Given the description of an element on the screen output the (x, y) to click on. 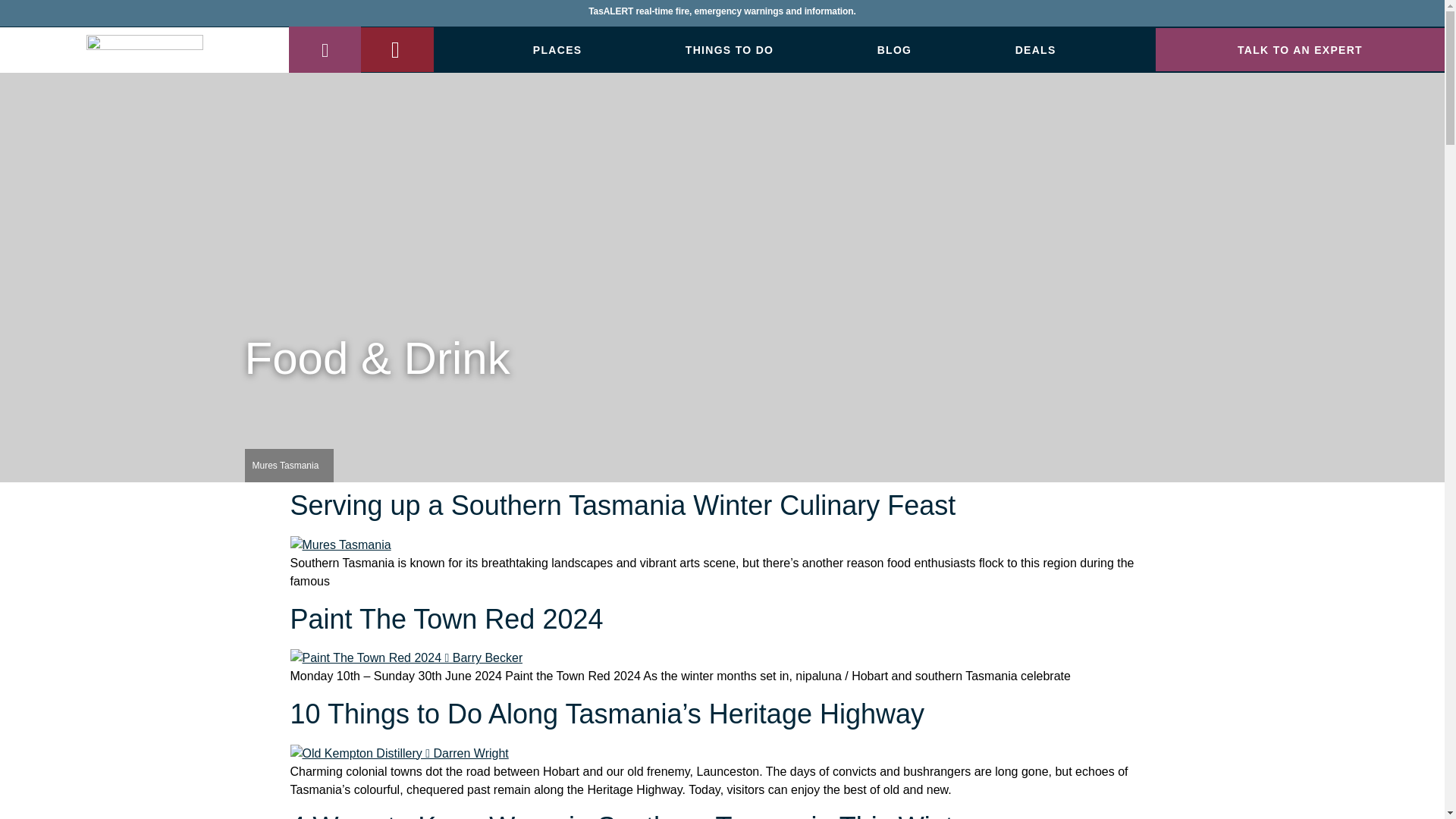
DEALS (1035, 49)
TALK TO AN EXPERT (1300, 49)
THINGS TO DO (729, 49)
PLACES (557, 49)
BLOG (894, 49)
TasALERT real-time fire, emergency warnings and information. (722, 16)
